Given the description of an element on the screen output the (x, y) to click on. 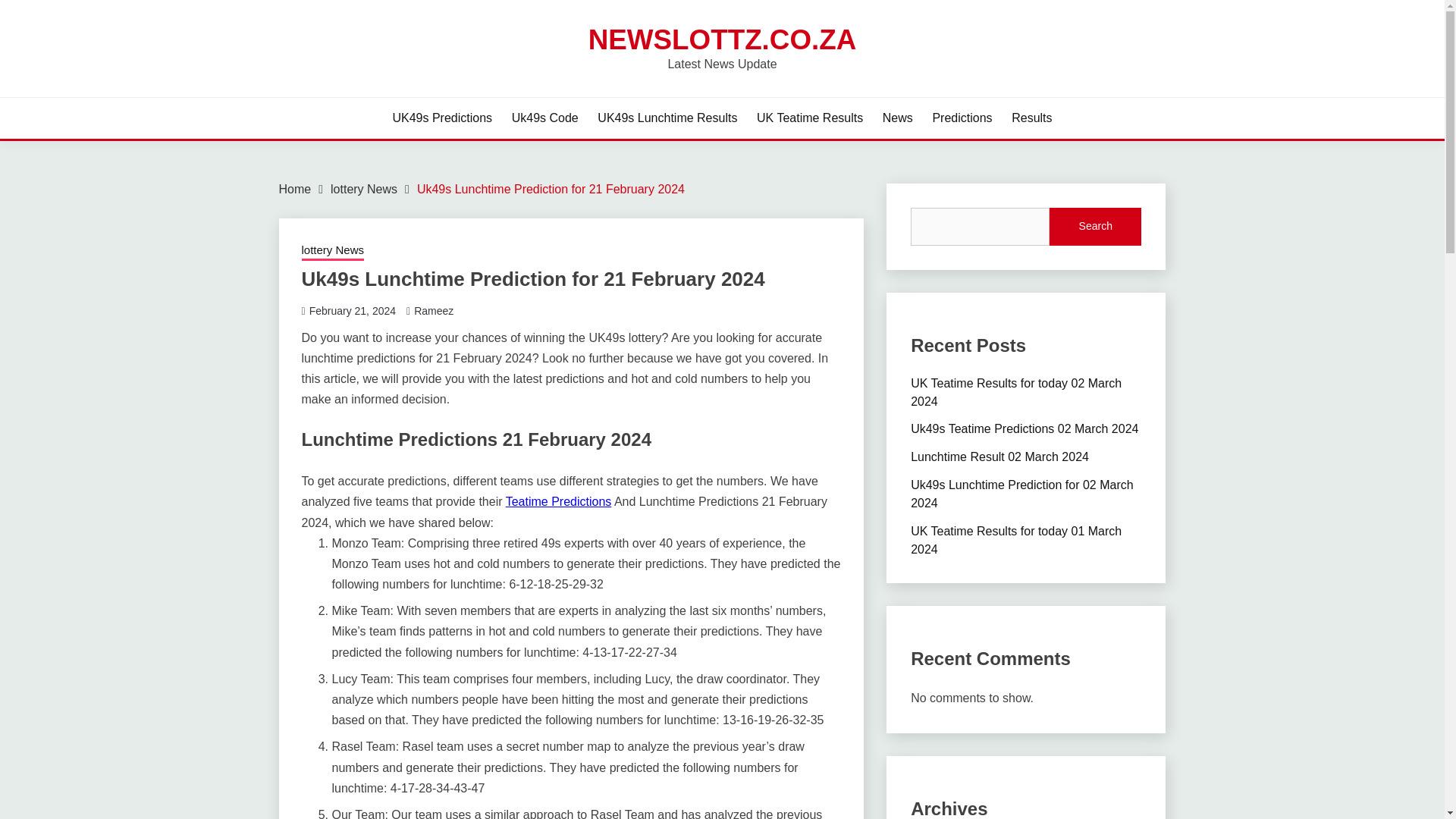
Uk49s Code (545, 117)
lottery News (333, 251)
Home (295, 188)
UK Teatime Results for today 01 March 2024 (1016, 540)
UK49s Predictions (441, 117)
Uk49s Teatime Predictions 02 March 2024 (1024, 428)
UK49s Lunchtime Results (666, 117)
Predictions (961, 117)
Results (1031, 117)
Uk49s Lunchtime Prediction for 02 March 2024 (1021, 493)
NEWSLOTTZ.CO.ZA (722, 39)
Uk49s Lunchtime Prediction for 21 February 2024 (550, 188)
Teatime Predictions (558, 501)
February 21, 2024 (352, 310)
Rameez (432, 310)
